Given the description of an element on the screen output the (x, y) to click on. 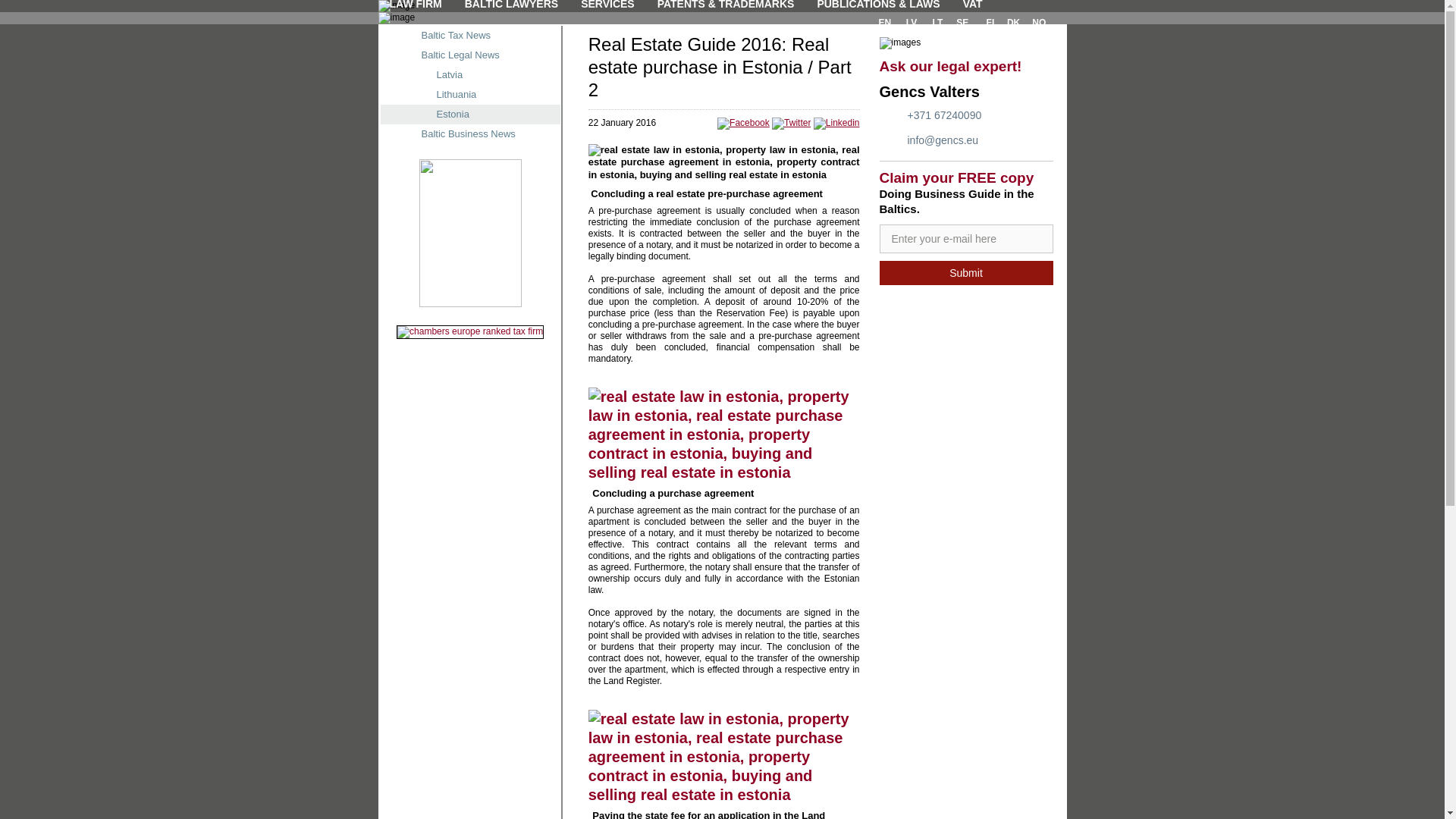
title (965, 238)
chambers europe ranked tax firm (469, 332)
NO (1038, 22)
BALTIC LAWYERS (511, 6)
Submit (965, 273)
DK (1013, 22)
LAW FIRM (415, 6)
